Given the description of an element on the screen output the (x, y) to click on. 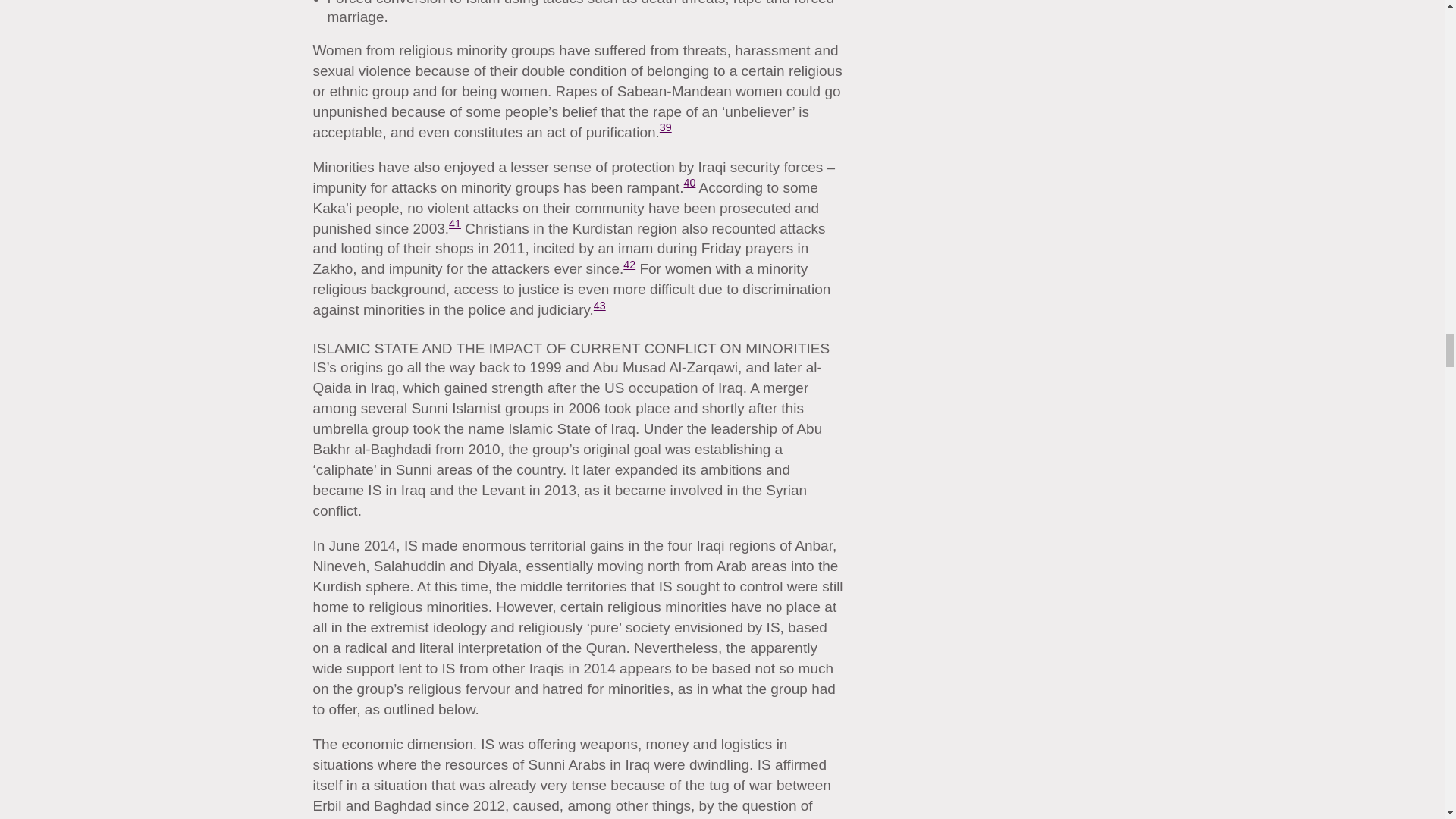
40 (688, 182)
41 (454, 223)
39 (665, 127)
